Given the description of an element on the screen output the (x, y) to click on. 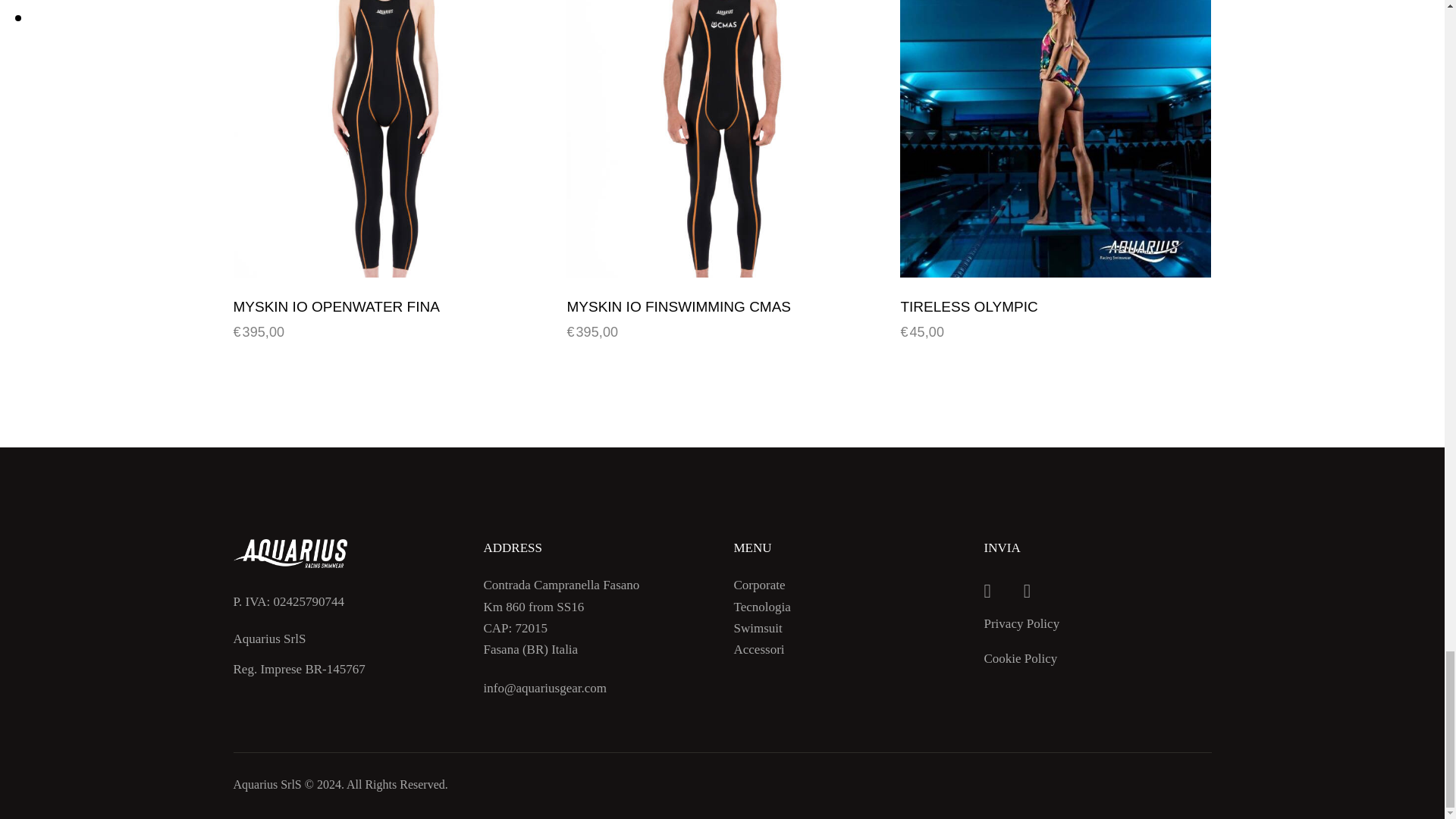
Privacy Policy  (1027, 622)
Cookie Policy  (1027, 657)
